Given the description of an element on the screen output the (x, y) to click on. 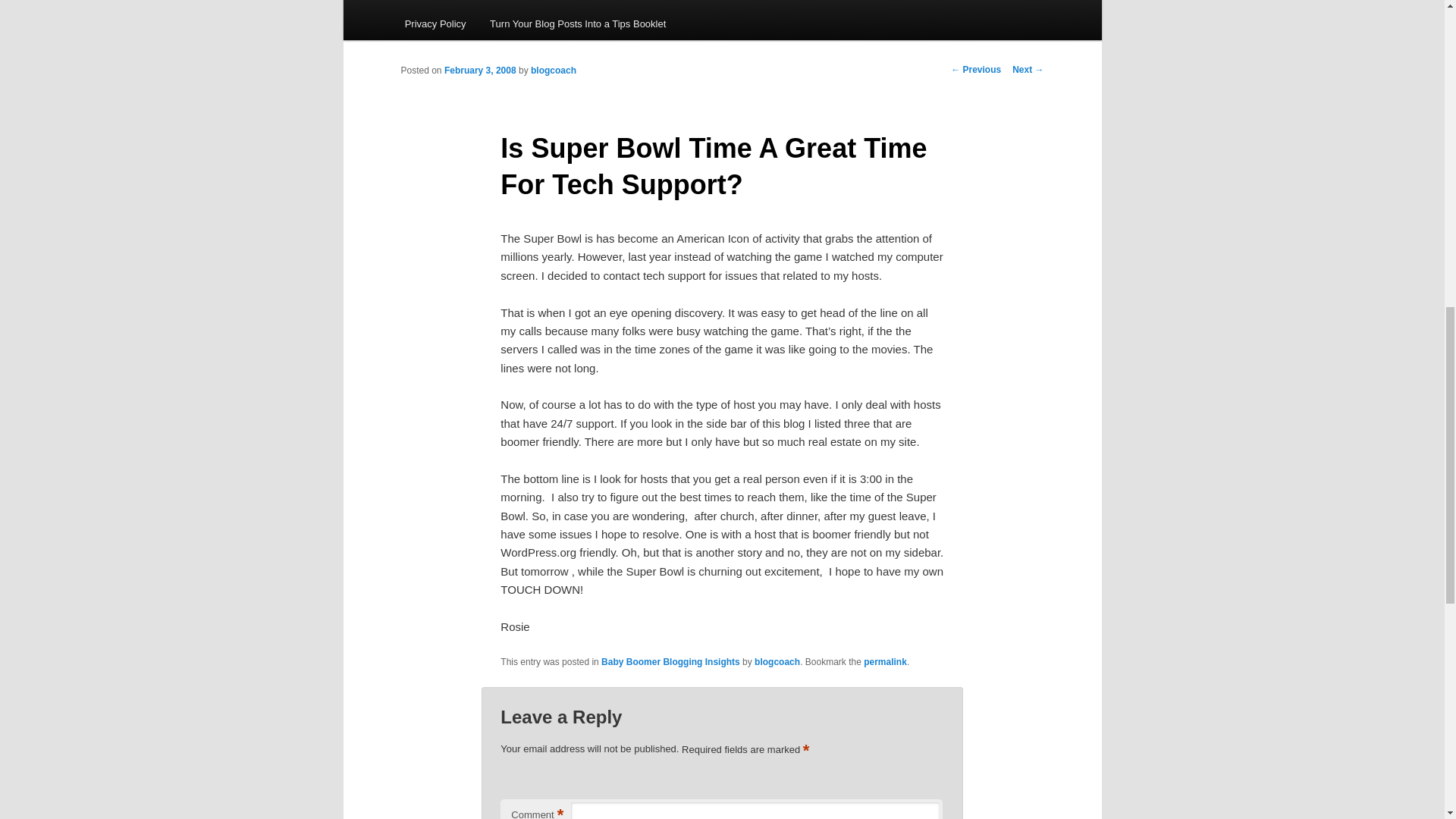
blogcoach (553, 70)
Home (417, 3)
About (467, 3)
Turn Your Blog Posts Into a Tips Booklet (577, 23)
blogcoach (776, 661)
View all posts by blogcoach (553, 70)
Boomer Blogging Resources (567, 3)
Privacy Policy (435, 23)
Buy Boomer Stuff (692, 3)
permalink (885, 661)
Join The Blogging For Boomers Facebook Group (861, 3)
February 3, 2008 (480, 70)
Baby Boomer Blogging Insights (670, 661)
2:41 am (480, 70)
